Given the description of an element on the screen output the (x, y) to click on. 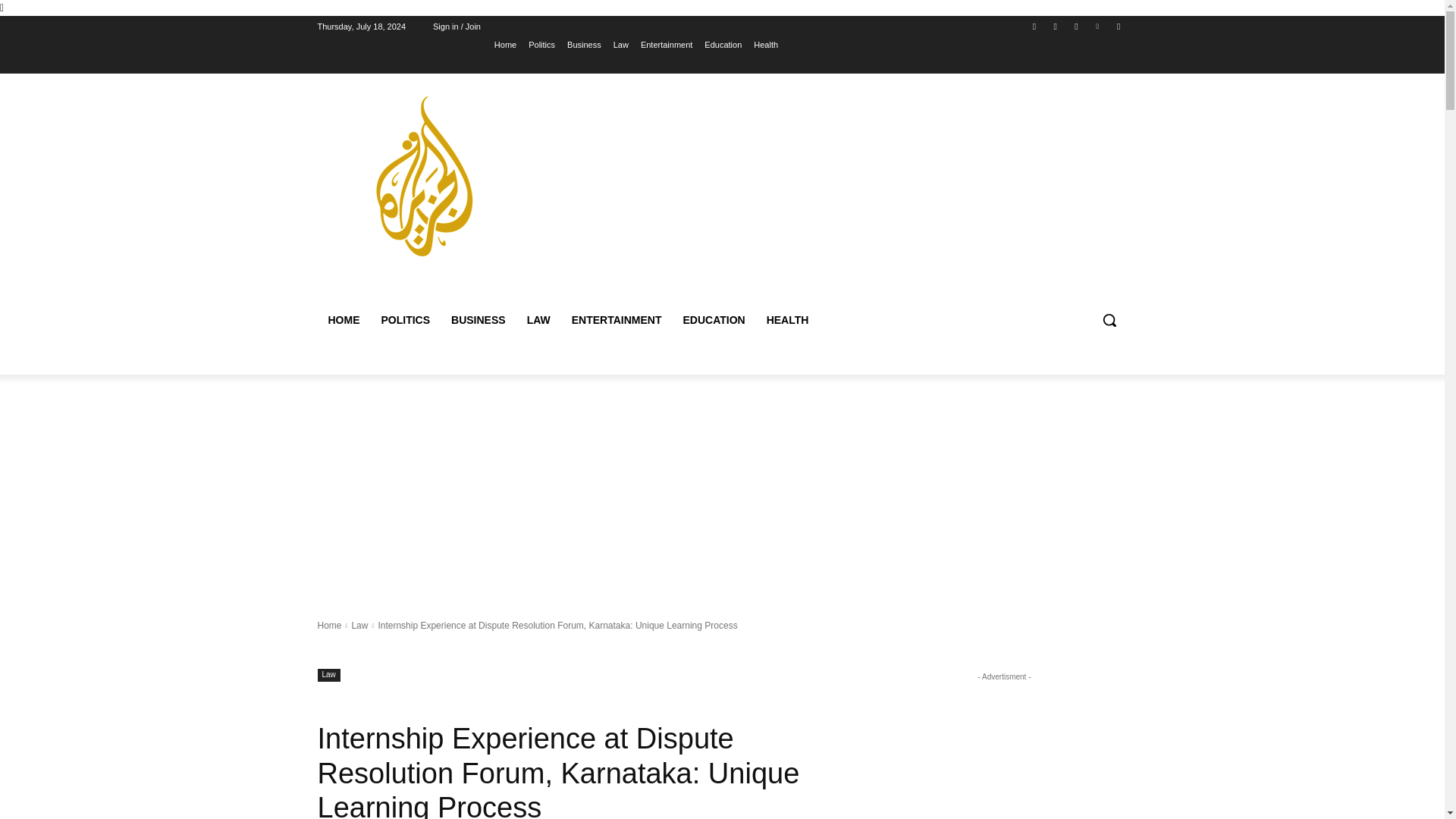
HEALTH (787, 320)
LAW (538, 320)
Home (328, 624)
Entertainment (666, 44)
POLITICS (405, 320)
Vimeo (1097, 27)
Health (765, 44)
Business (584, 44)
Twitter (1075, 27)
View all posts in Law (359, 624)
ENTERTAINMENT (616, 320)
Politics (541, 44)
Law (359, 624)
HOME (343, 320)
